Given the description of an element on the screen output the (x, y) to click on. 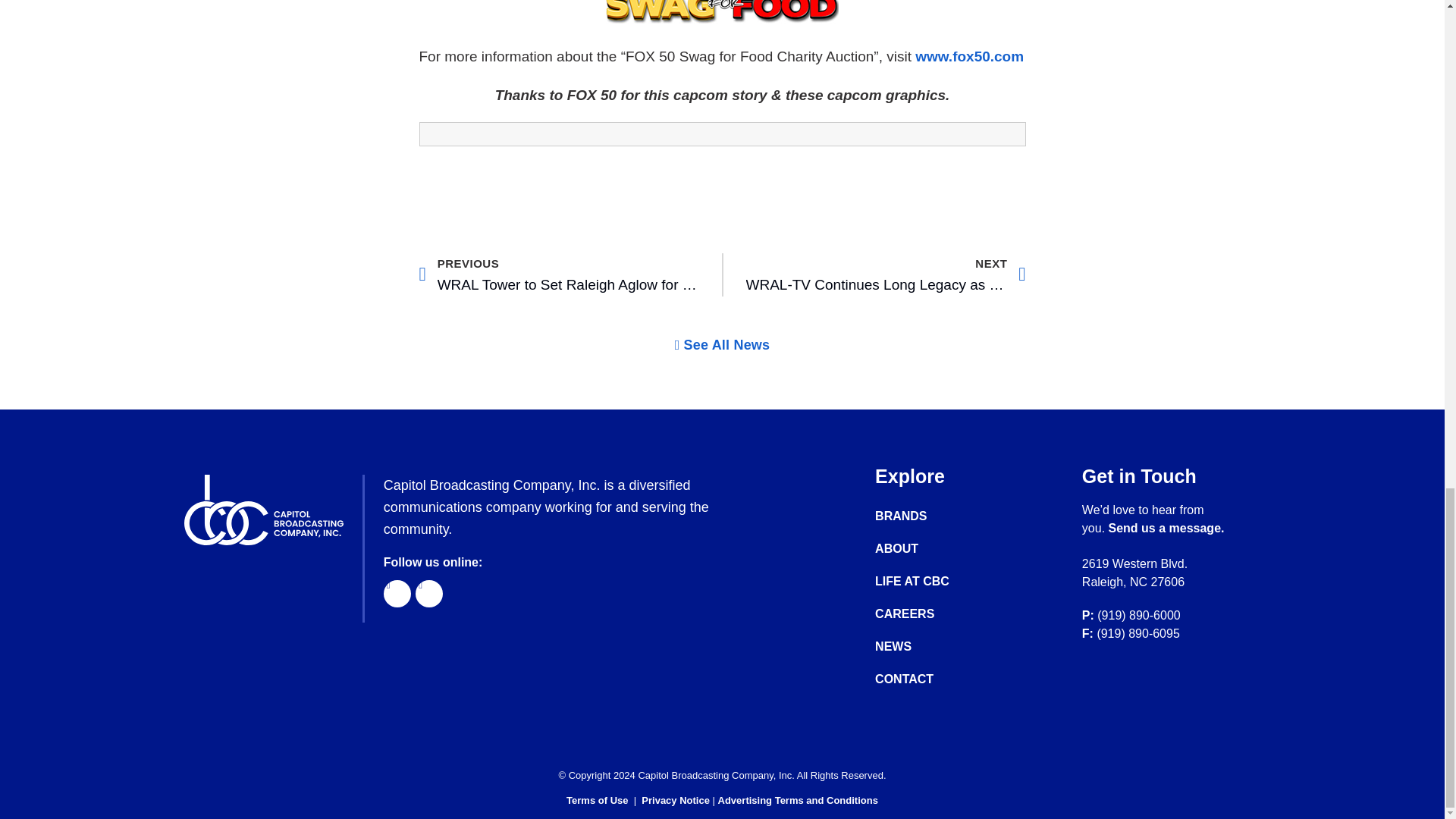
See All News (722, 345)
ABOUT (926, 548)
NEWS (926, 646)
BRANDS (926, 516)
www.fox50.com (969, 56)
CONTACT (926, 679)
CAREERS (926, 613)
LIFE AT CBC (558, 275)
